Given the description of an element on the screen output the (x, y) to click on. 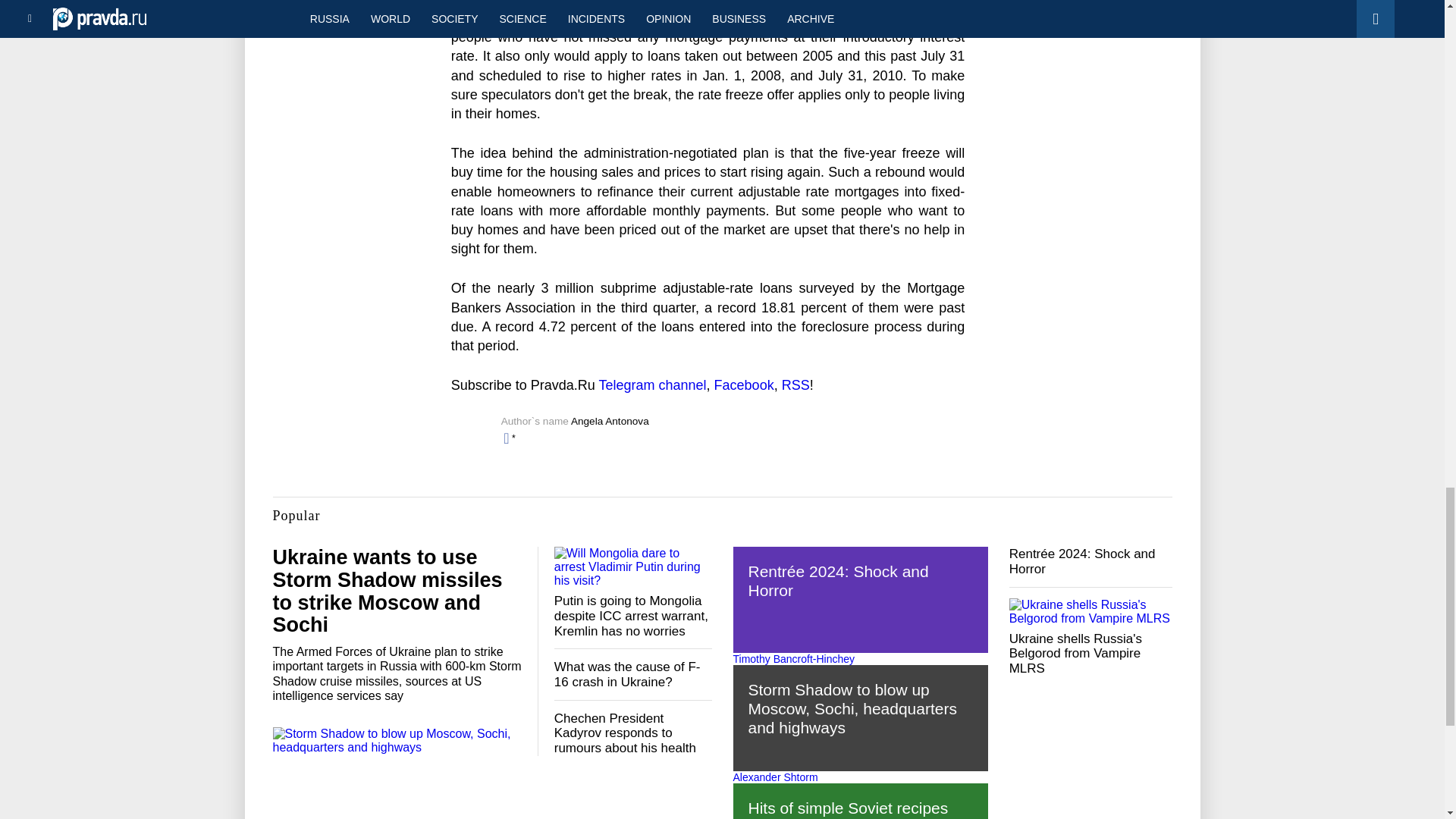
Facebook (744, 385)
Telegram channel (652, 385)
RSS (795, 385)
Angela Antonova (609, 420)
